Given the description of an element on the screen output the (x, y) to click on. 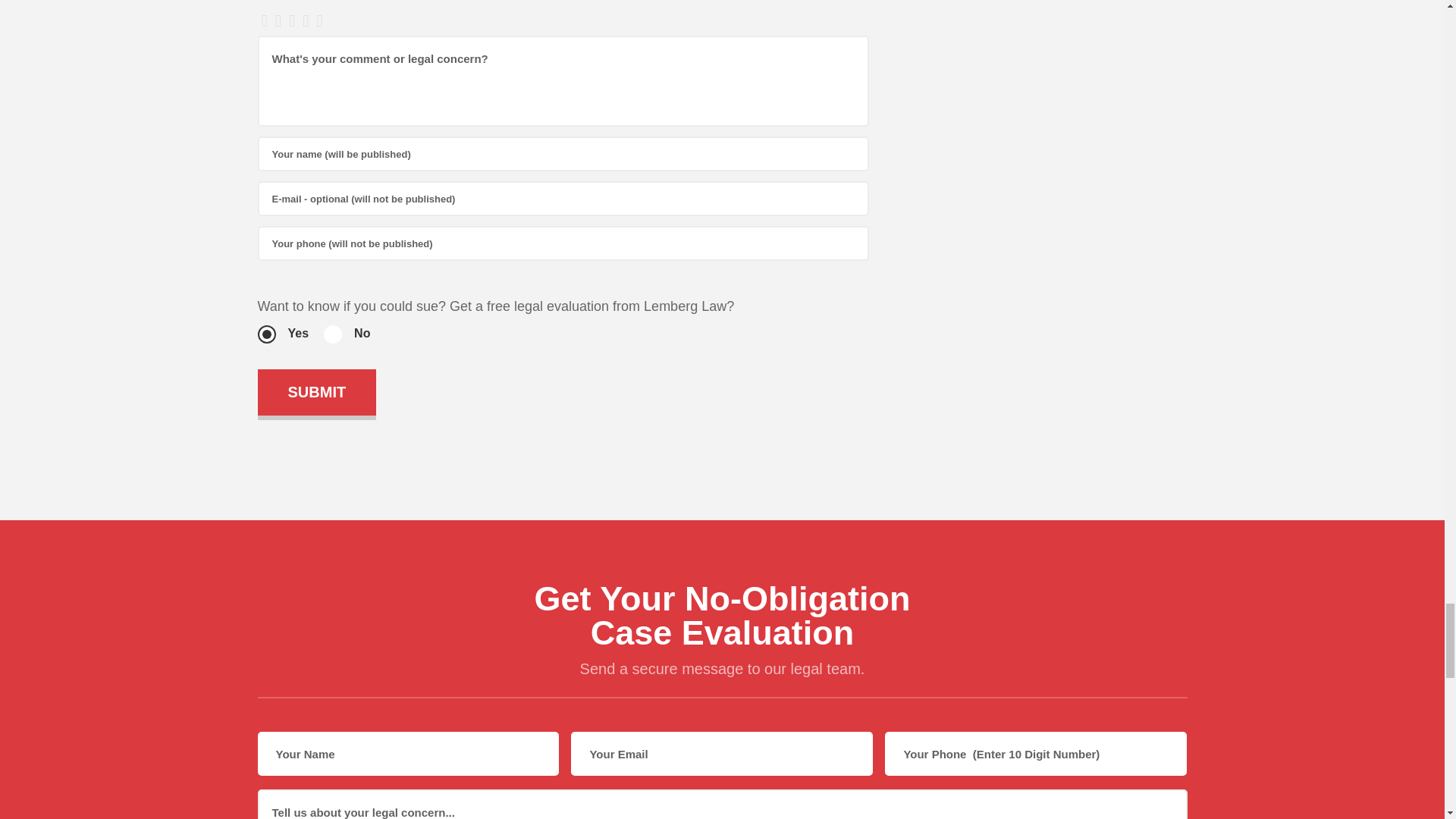
1 star (263, 22)
SUBMIT (317, 392)
2 stars (277, 22)
3 stars (291, 22)
5 stars (319, 22)
4 stars (305, 22)
